Given the description of an element on the screen output the (x, y) to click on. 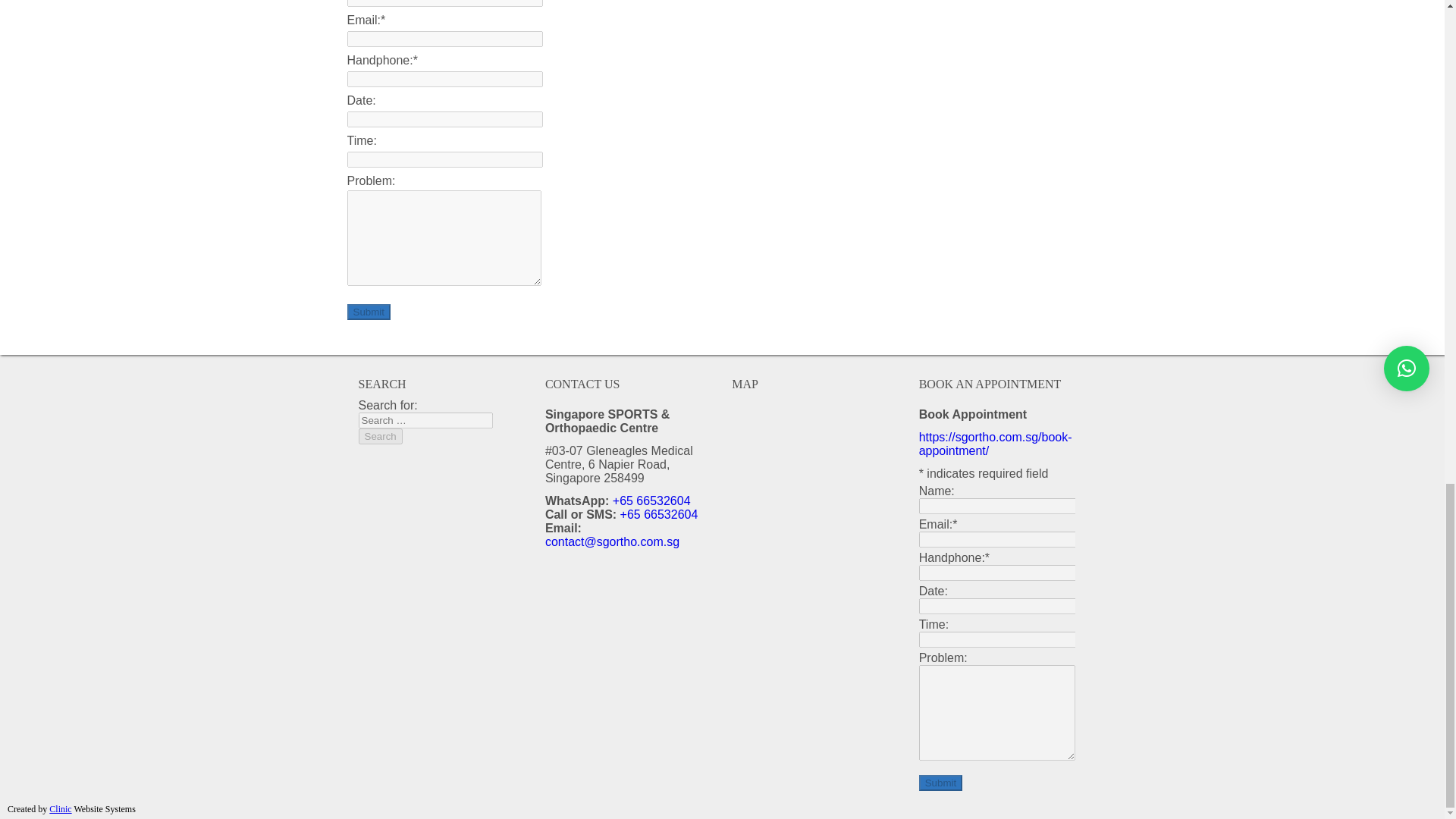
Submit (940, 782)
Submit (368, 311)
Submit (940, 782)
Search (379, 436)
Search (379, 436)
Search (379, 436)
Clinic (60, 808)
Submit (368, 311)
